Given the description of an element on the screen output the (x, y) to click on. 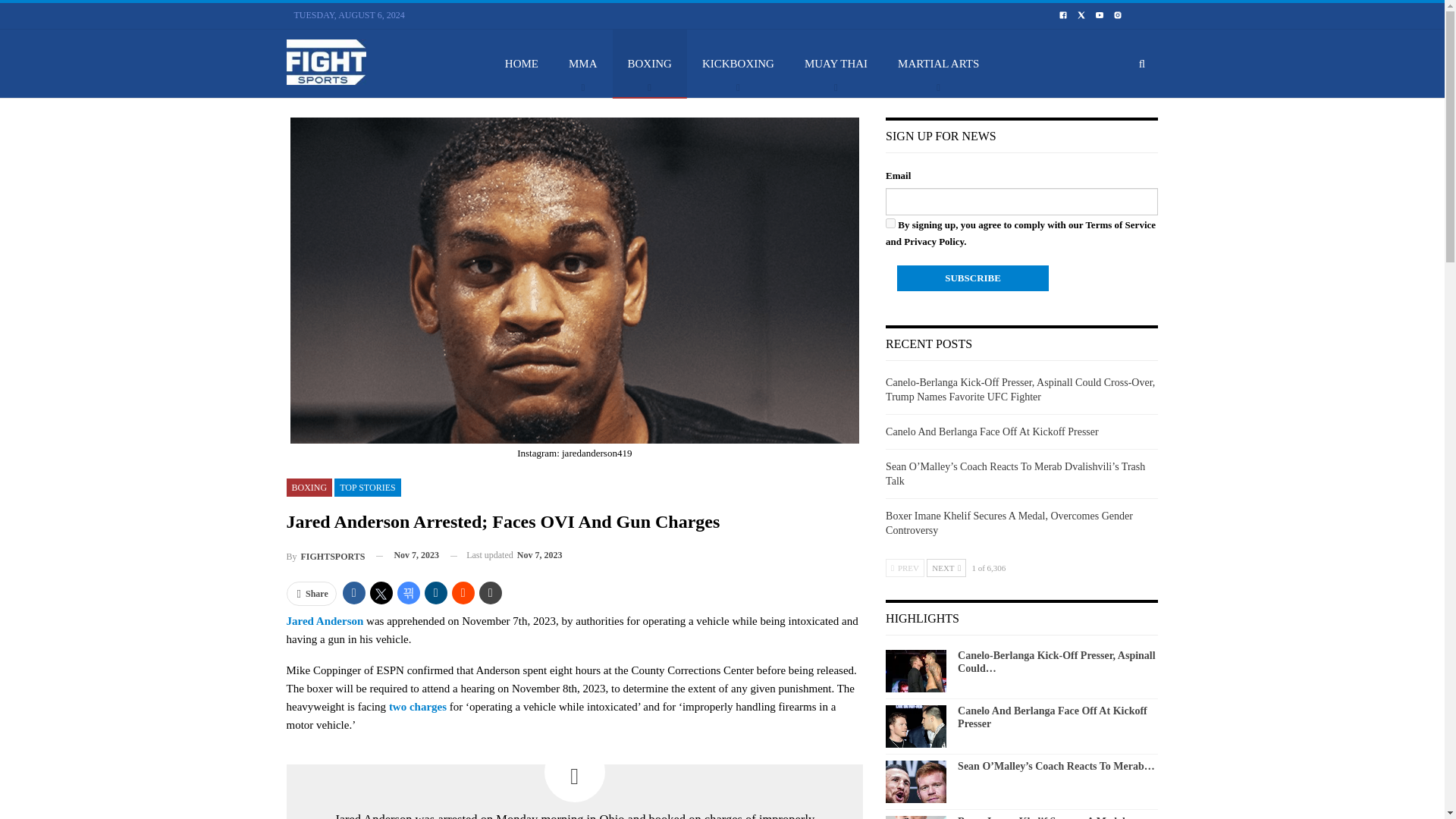
facebook (1062, 14)
HOME (521, 63)
twitter (1080, 13)
on (890, 223)
Subscribe (972, 278)
BOXING (649, 63)
KICKBOXING (738, 63)
youtube (1098, 14)
instagram (1117, 14)
twitter (1081, 14)
